Given the description of an element on the screen output the (x, y) to click on. 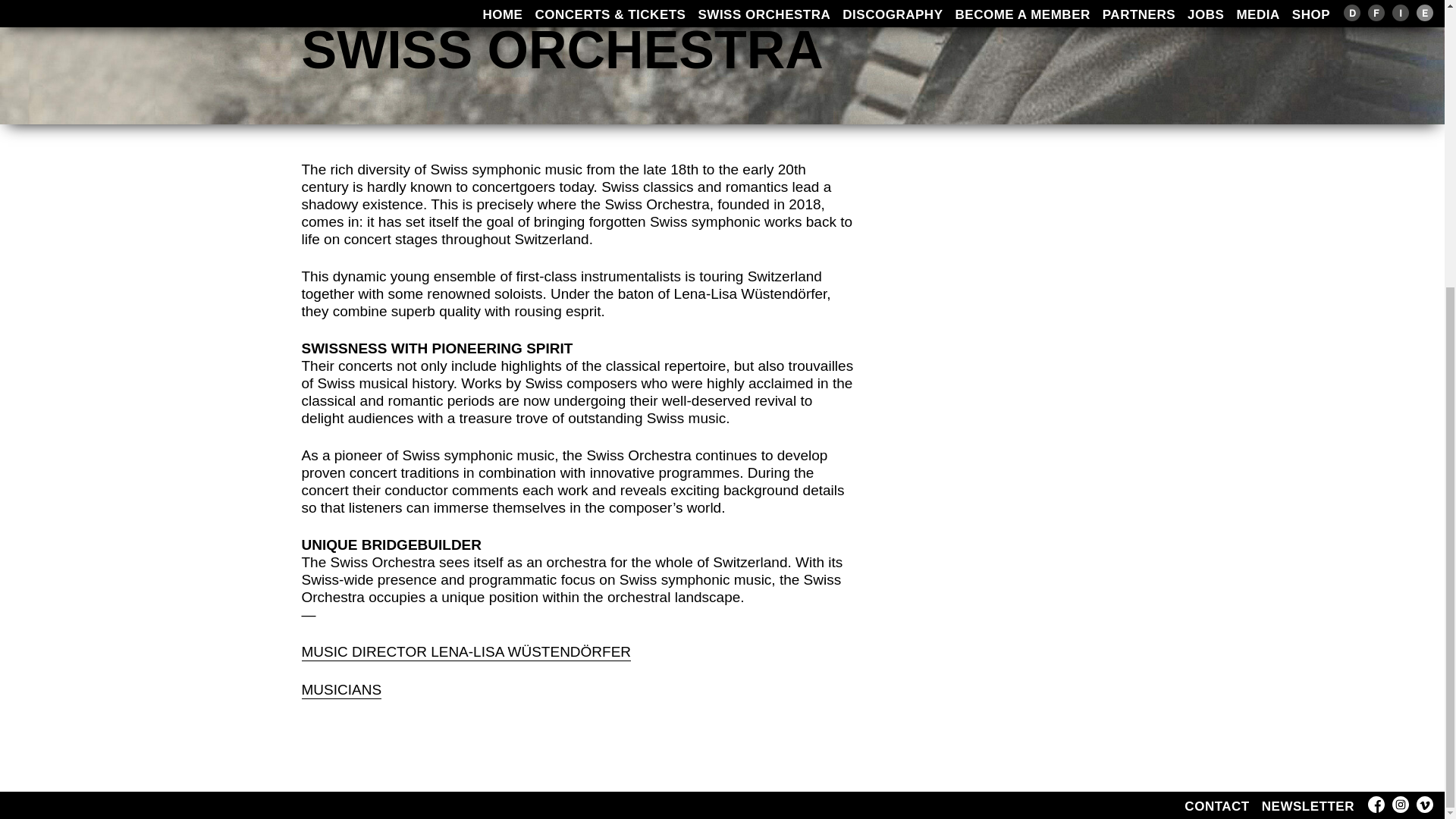
MUSICIANS (341, 689)
CONTACT (1216, 805)
NEWSLETTER (1307, 805)
